Given the description of an element on the screen output the (x, y) to click on. 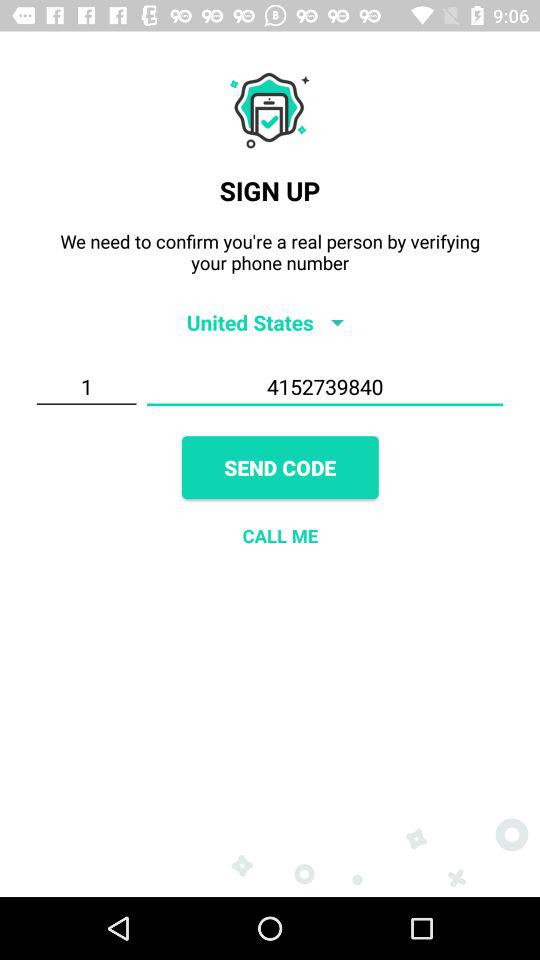
launch item below the we need to (269, 322)
